Given the description of an element on the screen output the (x, y) to click on. 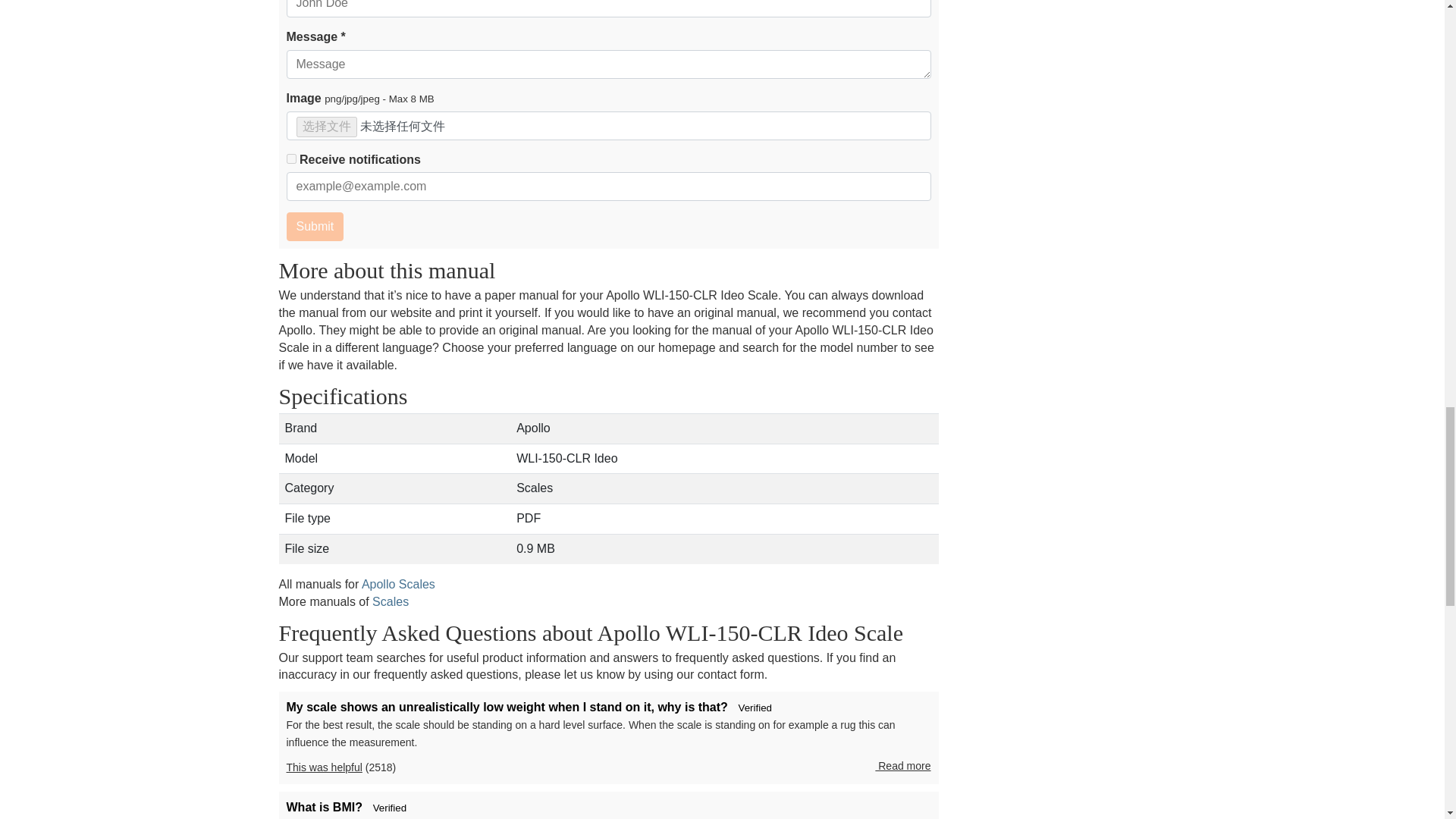
Scales (390, 601)
1 (291, 158)
Scales (390, 601)
 Read more (902, 766)
Submit (314, 226)
Apollo Scales (398, 584)
Apollo Scales (398, 584)
